Given the description of an element on the screen output the (x, y) to click on. 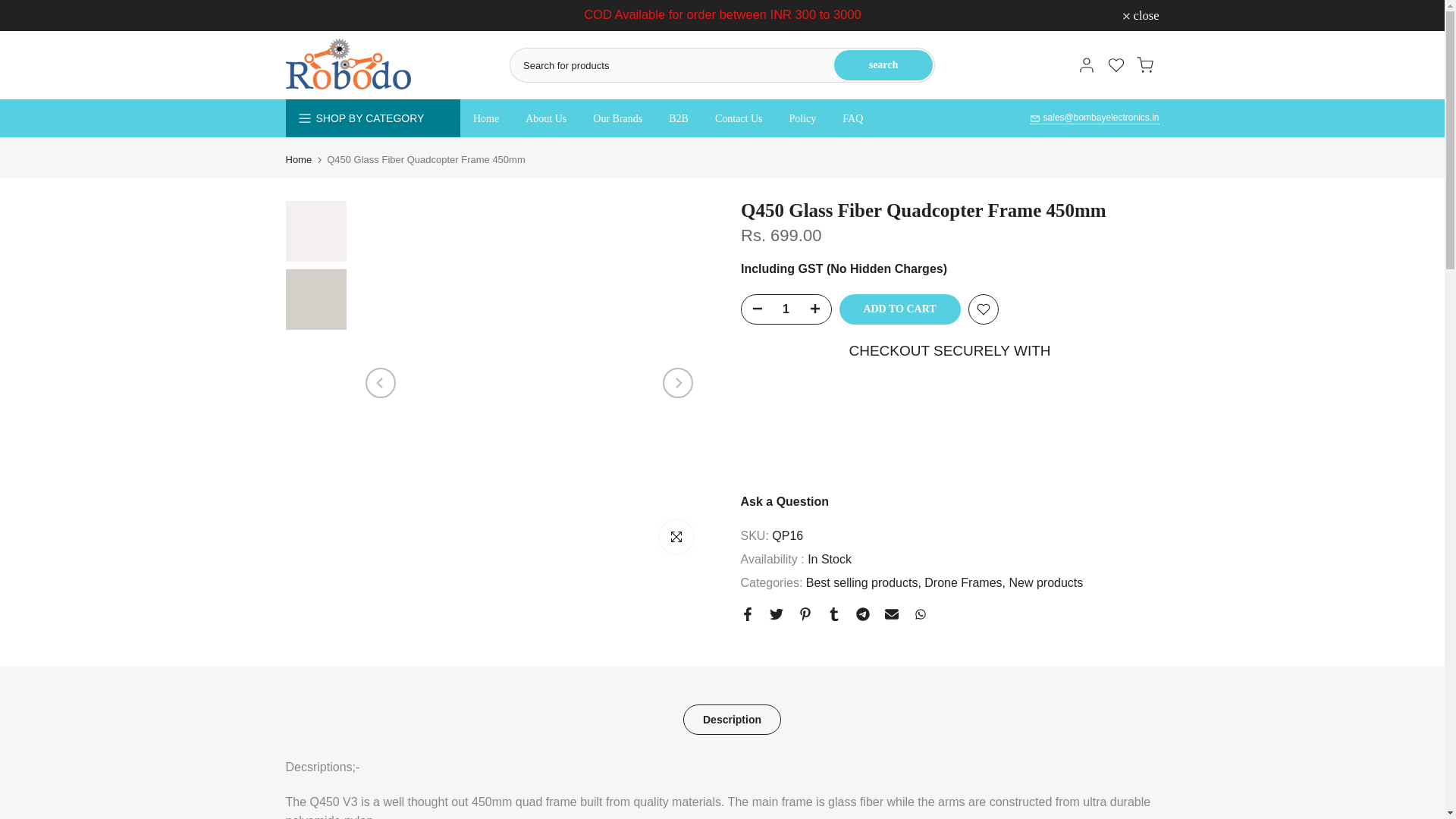
Share on WhatsApp (919, 613)
Our Brands (617, 118)
Share on Tumblr (833, 613)
Share on Facebook (746, 613)
Share on Telegram (862, 613)
close (1140, 15)
Ask a Question (783, 501)
Drone Frames (965, 582)
FAQ (852, 118)
Share on Email (890, 613)
